Given the description of an element on the screen output the (x, y) to click on. 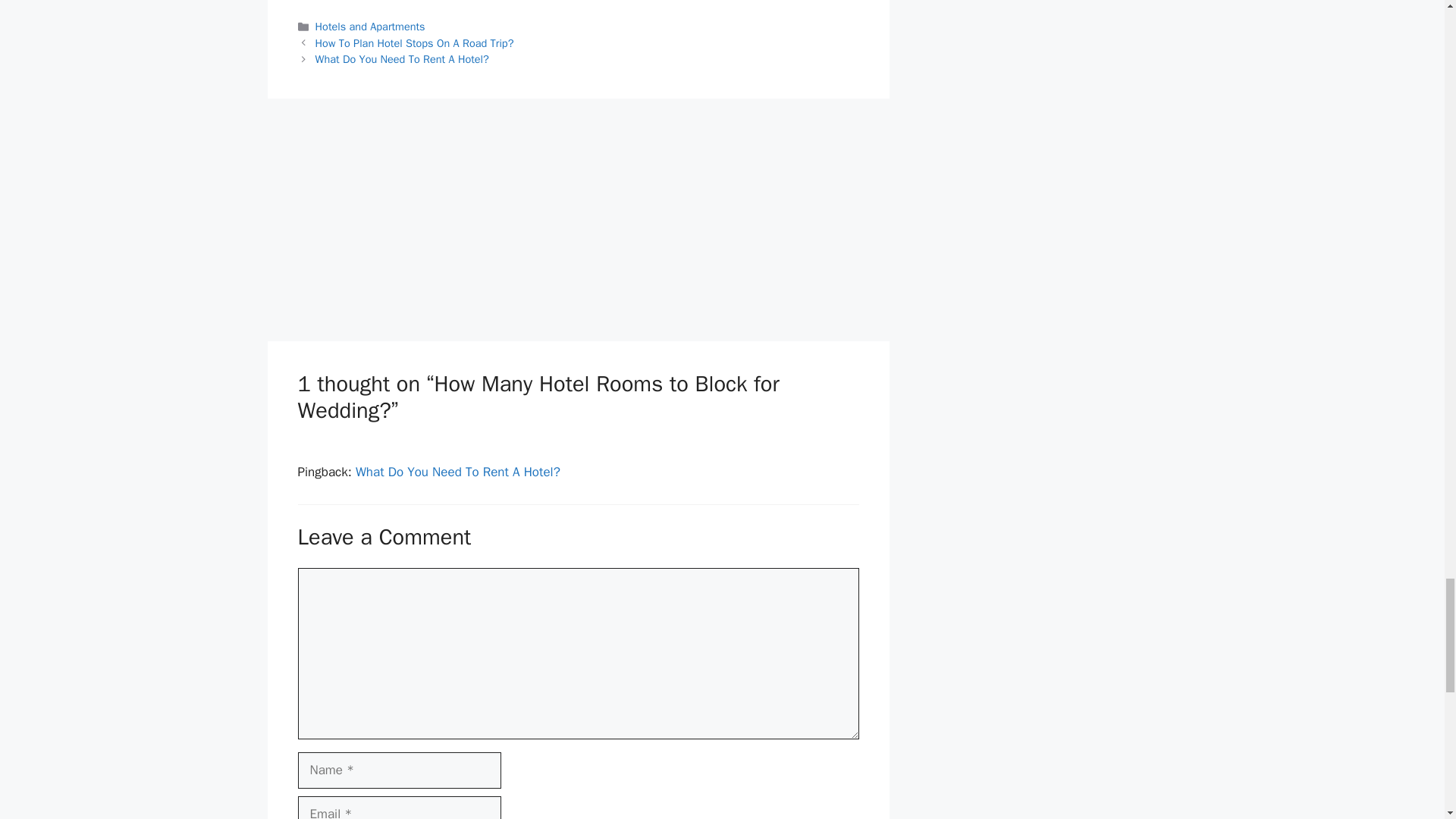
Hotels and Apartments (370, 26)
How To Plan Hotel Stops On A Road Trip? (414, 42)
What Do You Need To Rent A Hotel? (457, 471)
What Do You Need To Rent A Hotel? (402, 59)
